Given the description of an element on the screen output the (x, y) to click on. 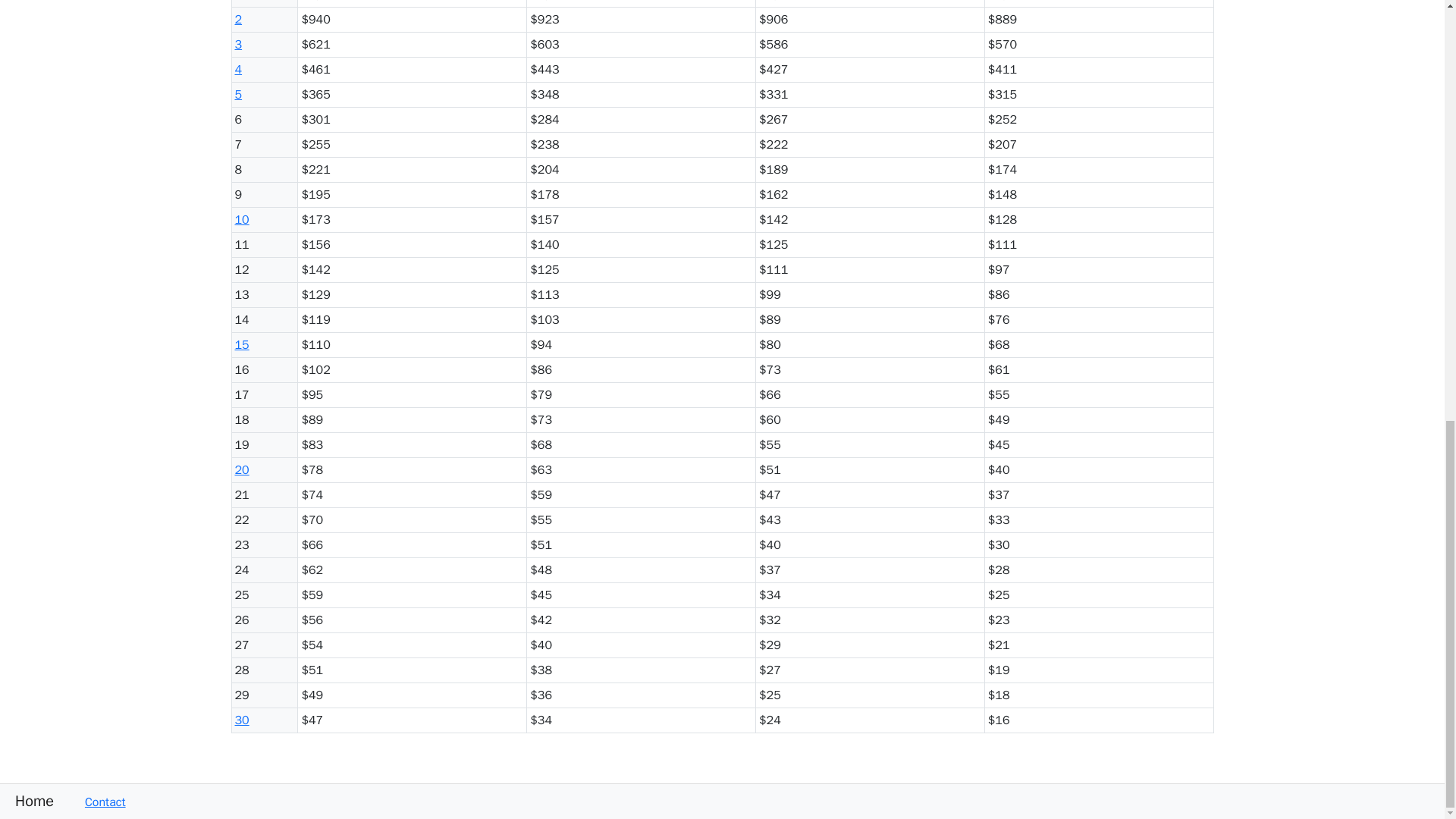
20 (241, 469)
30 (241, 720)
10 (241, 219)
Contact (97, 801)
15 (241, 344)
Home (26, 800)
